Given the description of an element on the screen output the (x, y) to click on. 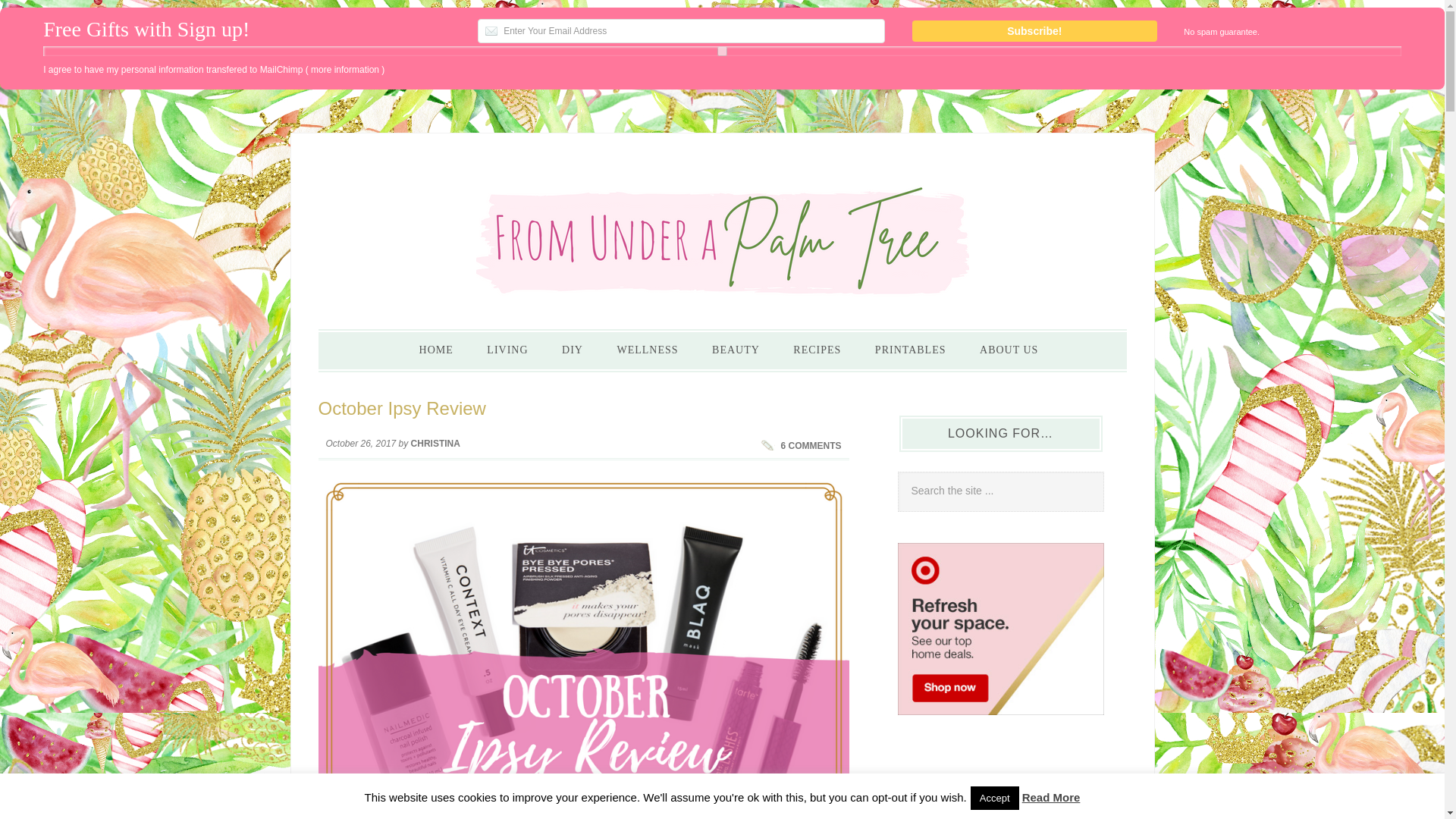
Subscribe! (1034, 30)
From Under a Palm Tree (722, 236)
more information (344, 69)
BEAUTY (735, 350)
WELLNESS (647, 350)
DIY (572, 350)
Subscribe! (1034, 30)
ABOUT US (1007, 350)
RECIPES (816, 350)
PRINTABLES (910, 350)
HOME (436, 350)
LIVING (507, 350)
